Given the description of an element on the screen output the (x, y) to click on. 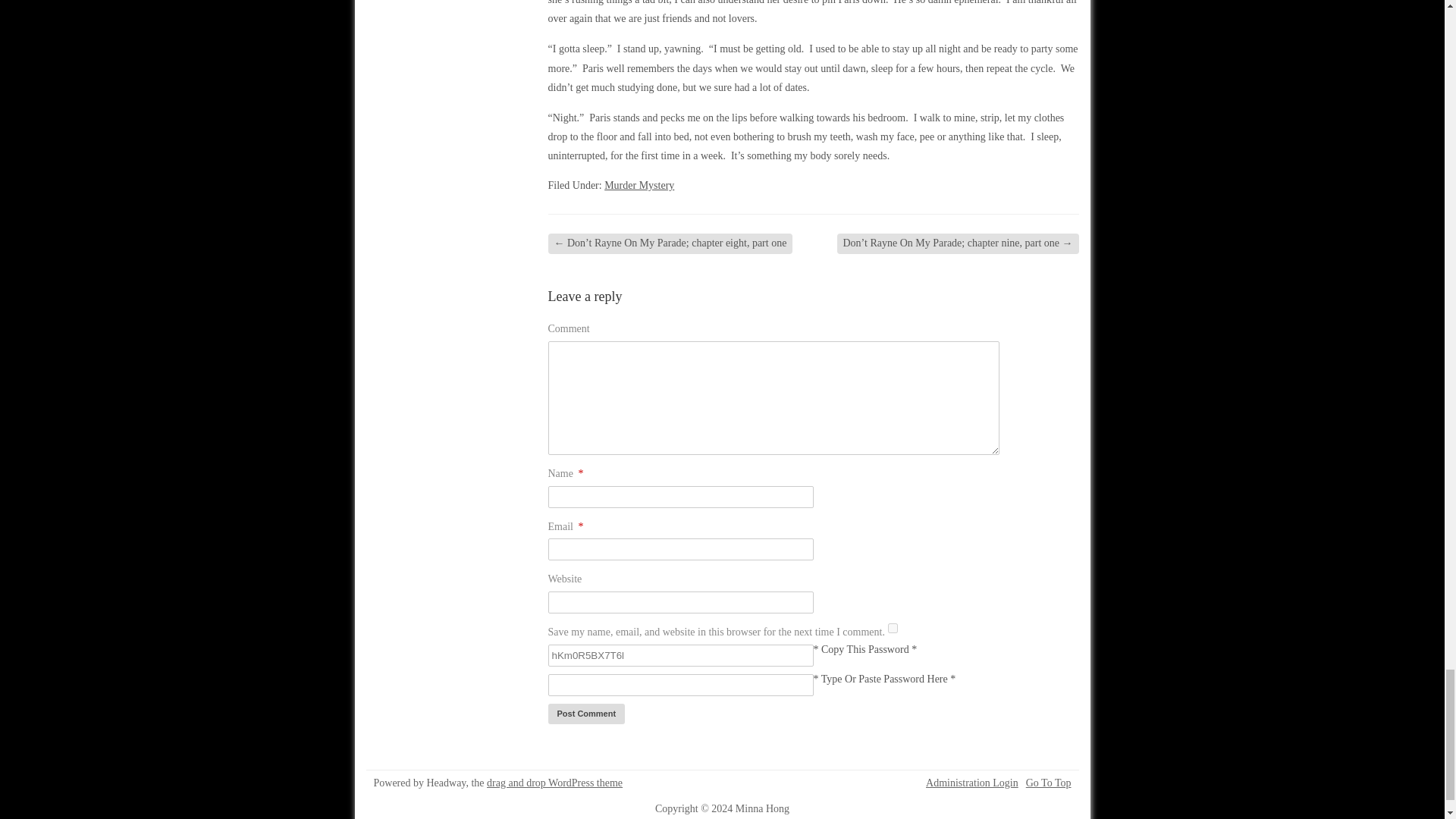
Post Comment (585, 713)
Headway Premium WordPress Theme (554, 782)
yes (893, 628)
hKm0R5BX7T6l (679, 655)
